Given the description of an element on the screen output the (x, y) to click on. 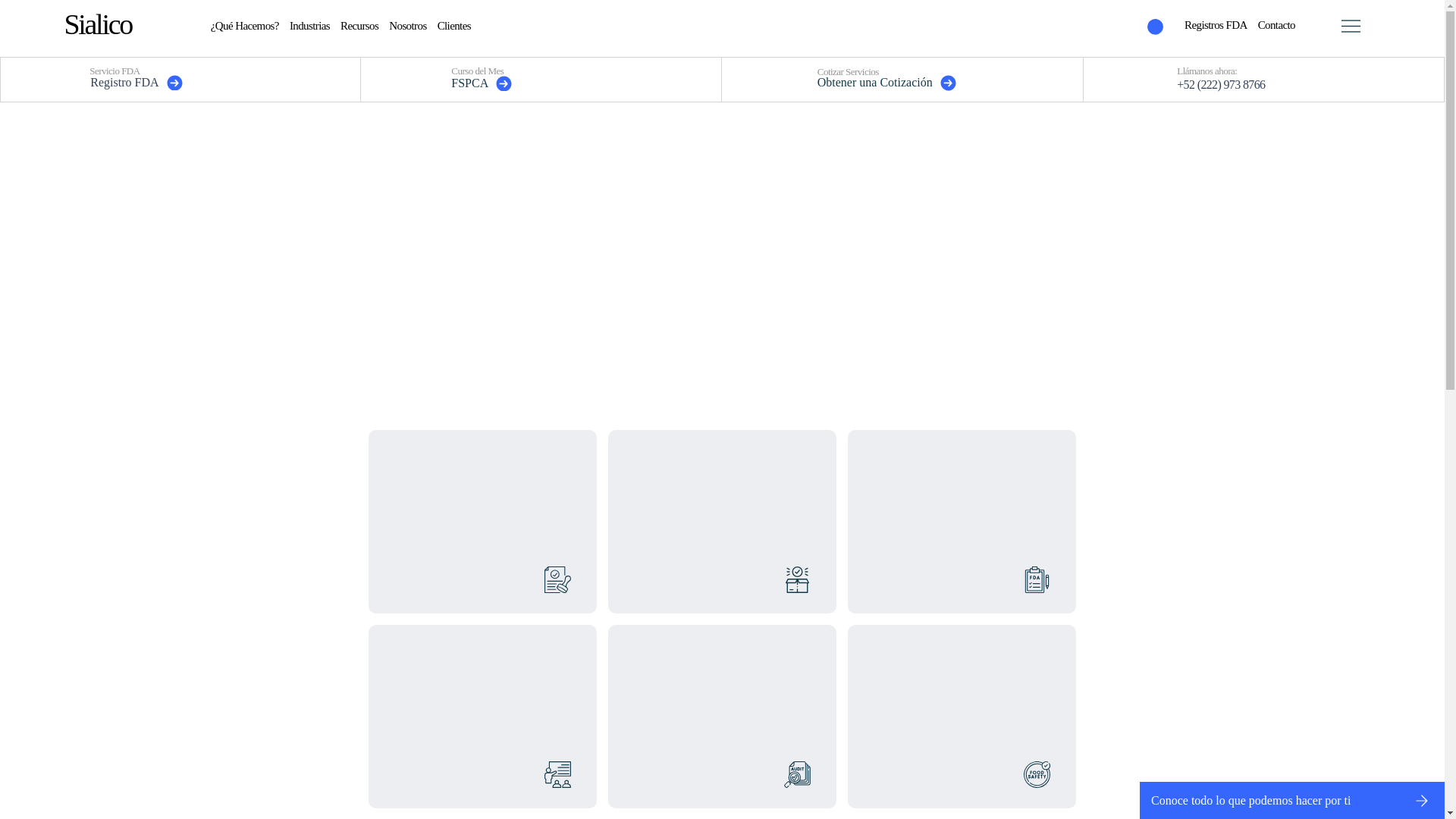
FSPCA (541, 83)
Nosotros (407, 26)
Clientes (453, 26)
Sialico (98, 24)
Registro FDA (171, 82)
Registros FDA (1215, 25)
